Given the description of an element on the screen output the (x, y) to click on. 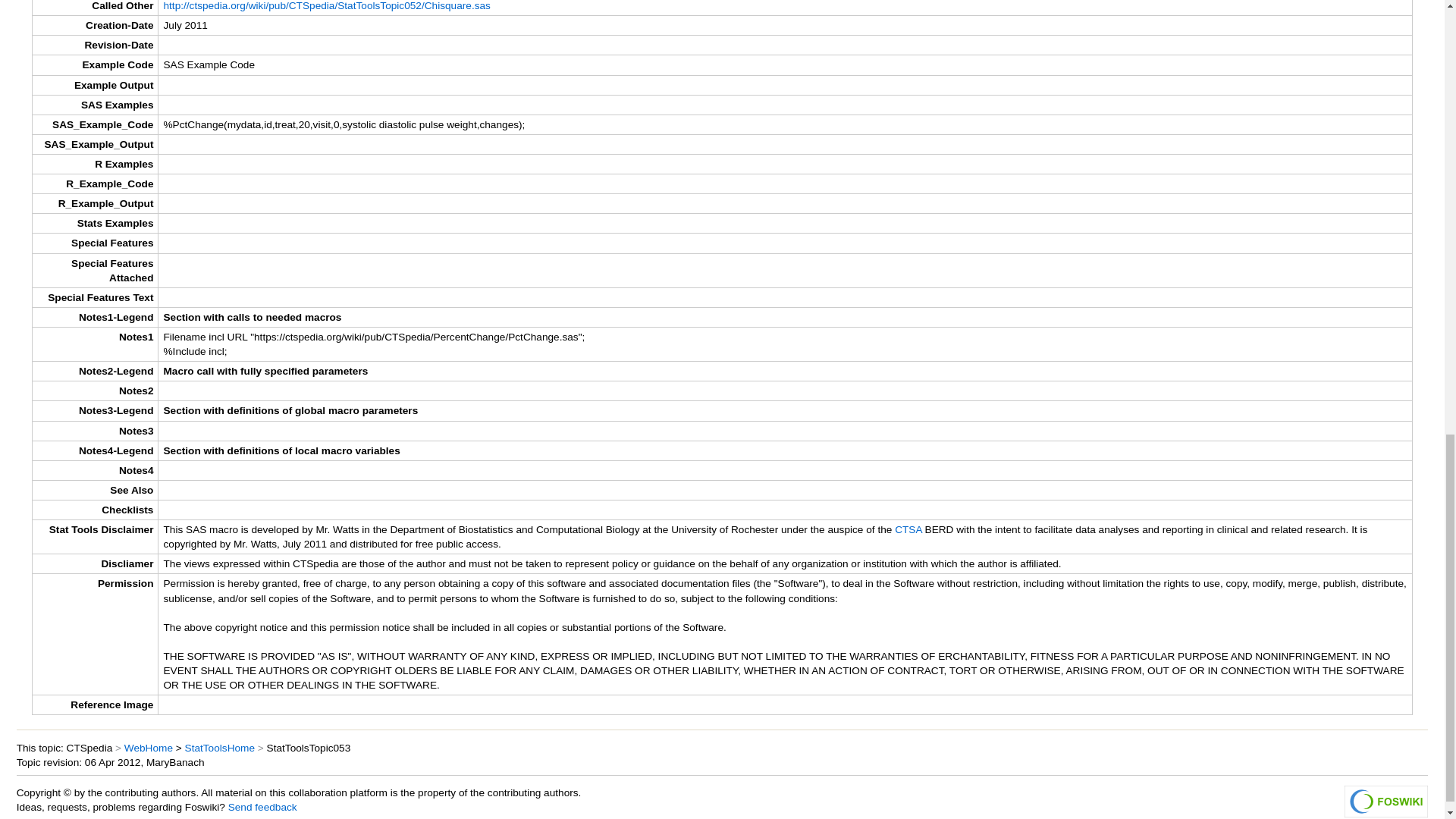
Send feedback (262, 807)
This site is powered by Foswiki (1385, 801)
CTSA (908, 529)
StatToolsHome (220, 747)
WebHome (148, 747)
